Given the description of an element on the screen output the (x, y) to click on. 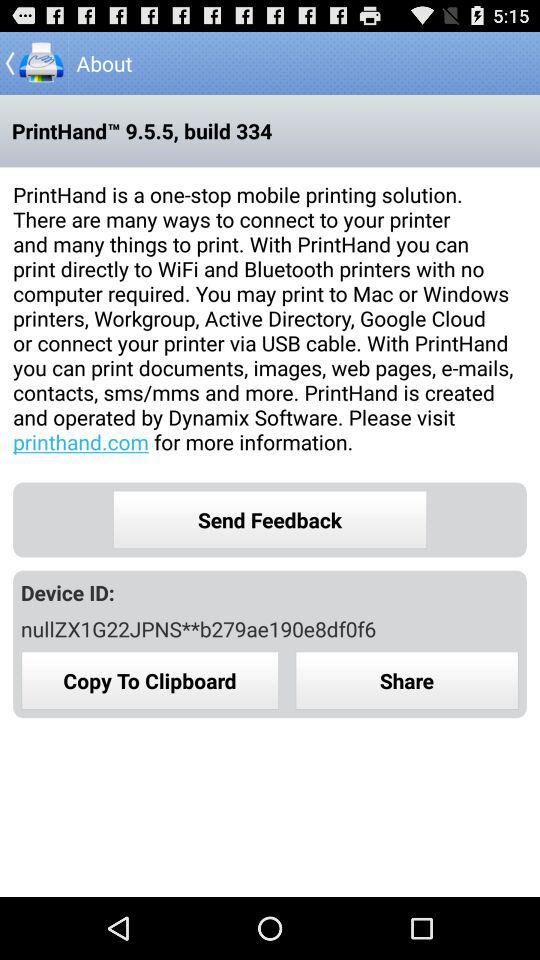
tap share button (407, 680)
